Given the description of an element on the screen output the (x, y) to click on. 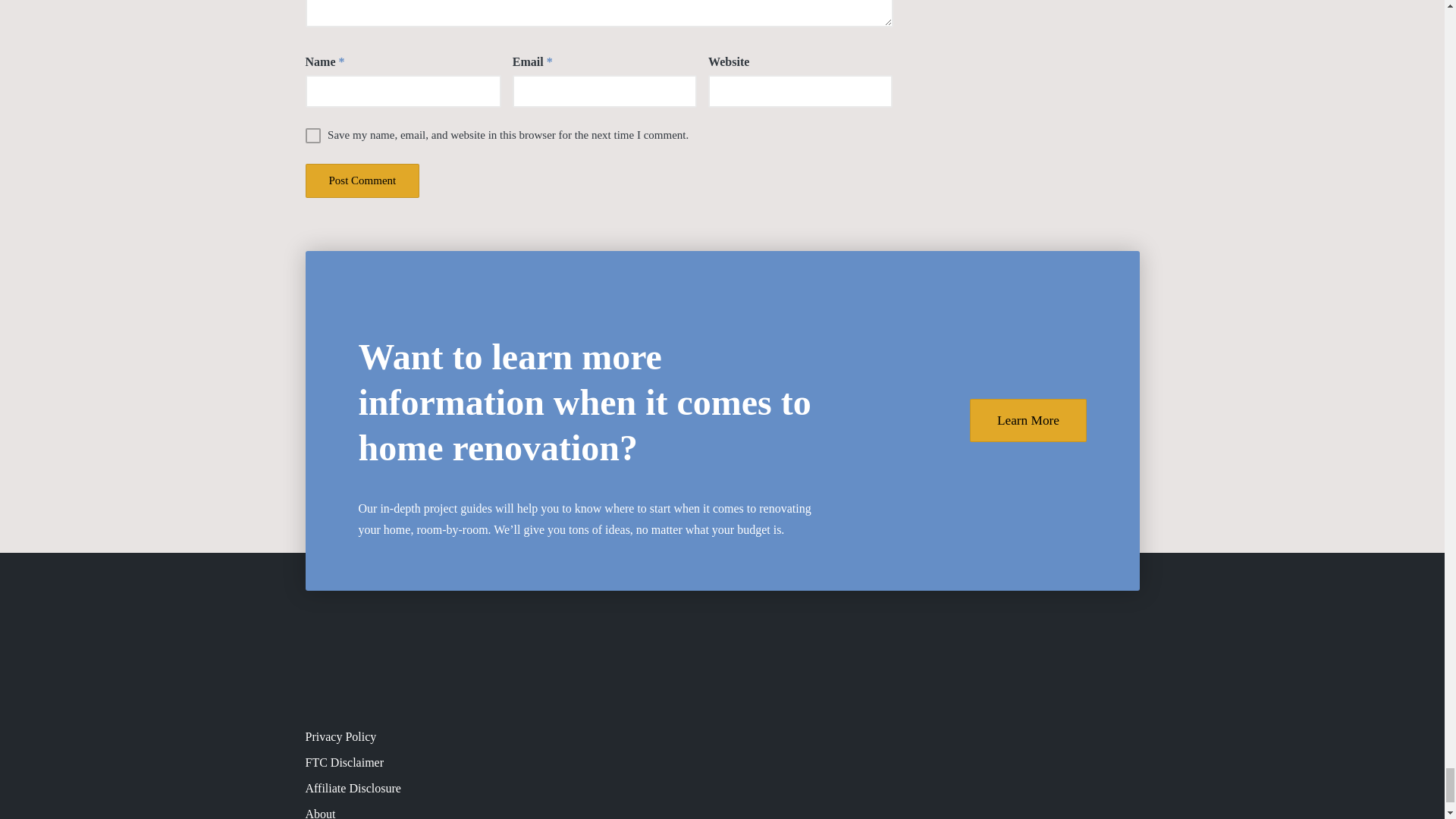
Post Comment (361, 180)
yes (312, 135)
